Given the description of an element on the screen output the (x, y) to click on. 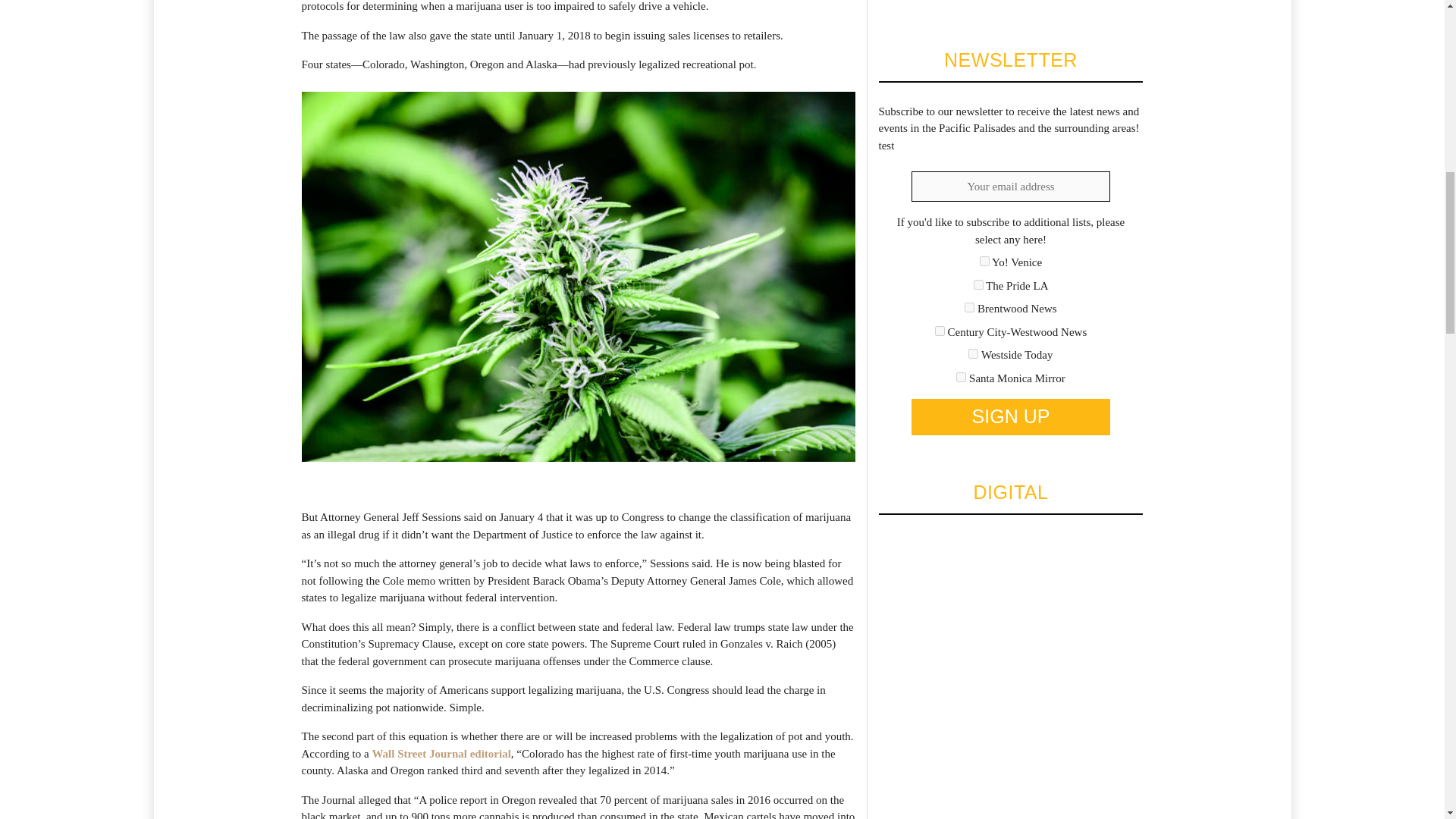
33f79e7e4d (979, 284)
a3d1b6d535 (973, 353)
Sign up (1010, 416)
Sign up (1010, 416)
5fac618226 (939, 330)
Wall Street Journal editorial (441, 753)
d0b5733862 (961, 377)
Page 7 (578, 750)
3rd party ad content (991, 1)
382281a661 (968, 307)
